Given the description of an element on the screen output the (x, y) to click on. 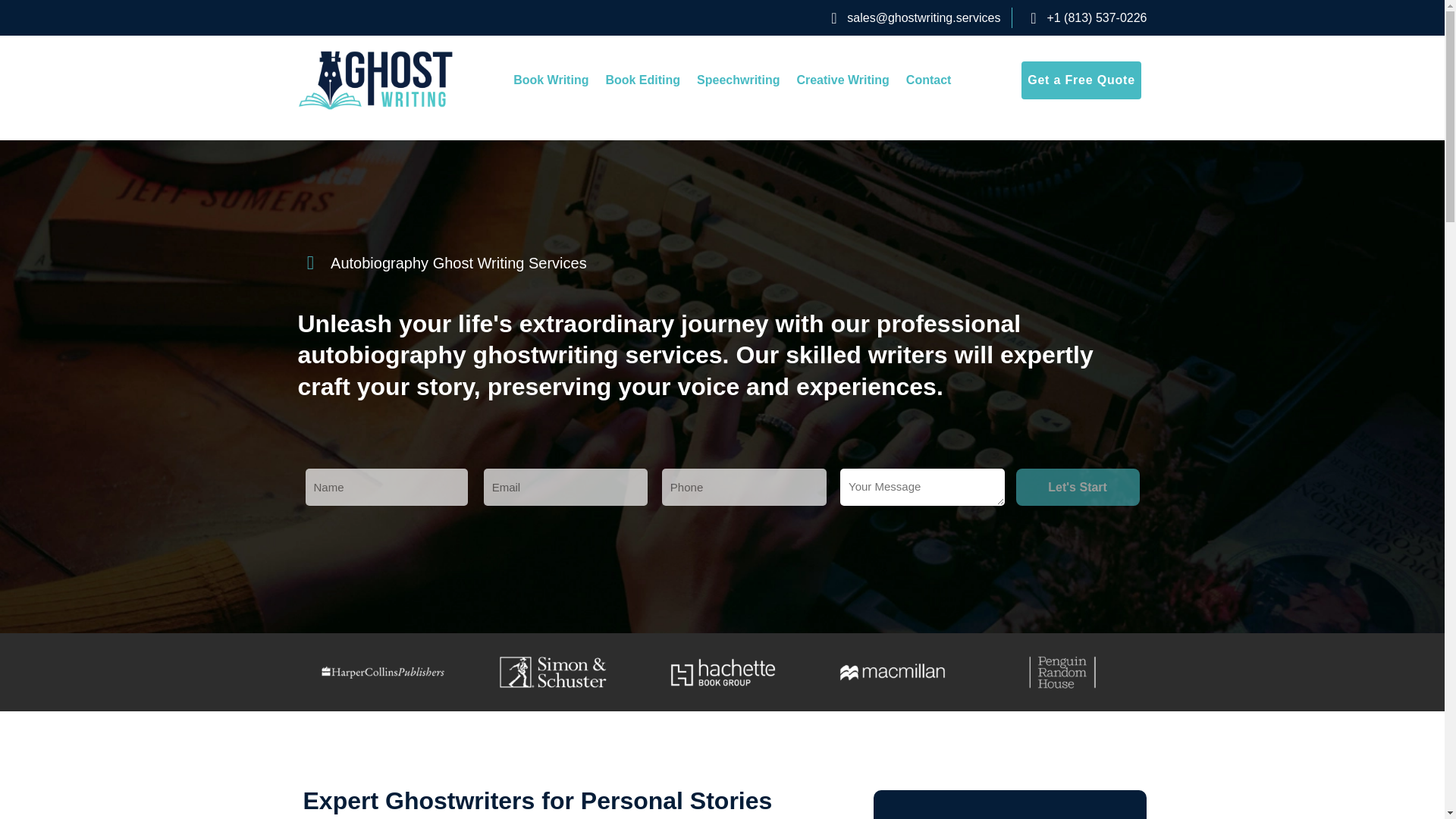
Let's Start (1078, 487)
Book Editing (642, 80)
Book Writing (550, 80)
Creative Writing (841, 80)
Contact (928, 80)
Speechwriting (737, 80)
